Given the description of an element on the screen output the (x, y) to click on. 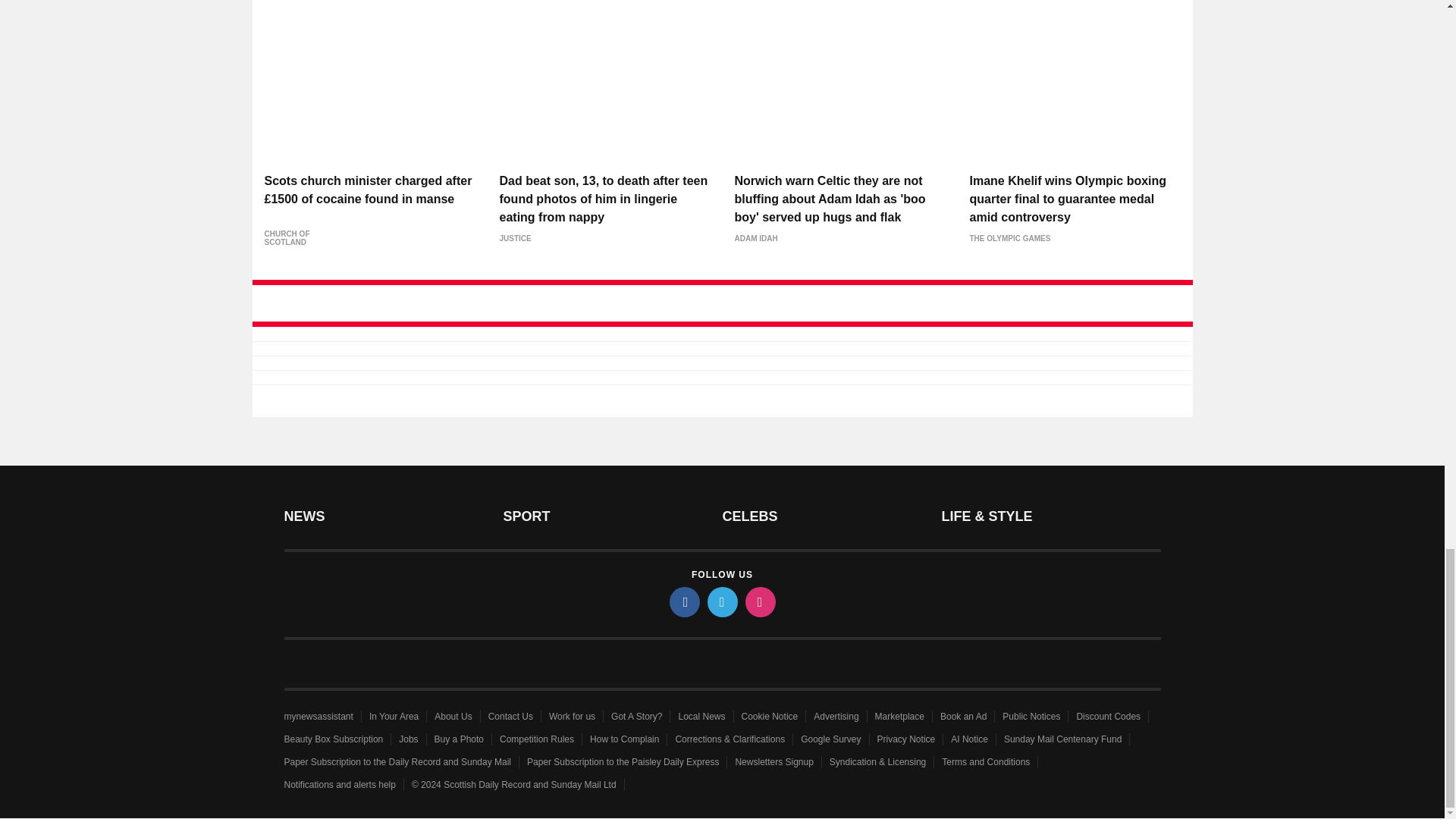
twitter (721, 602)
instagram (759, 602)
facebook (683, 602)
